Given the description of an element on the screen output the (x, y) to click on. 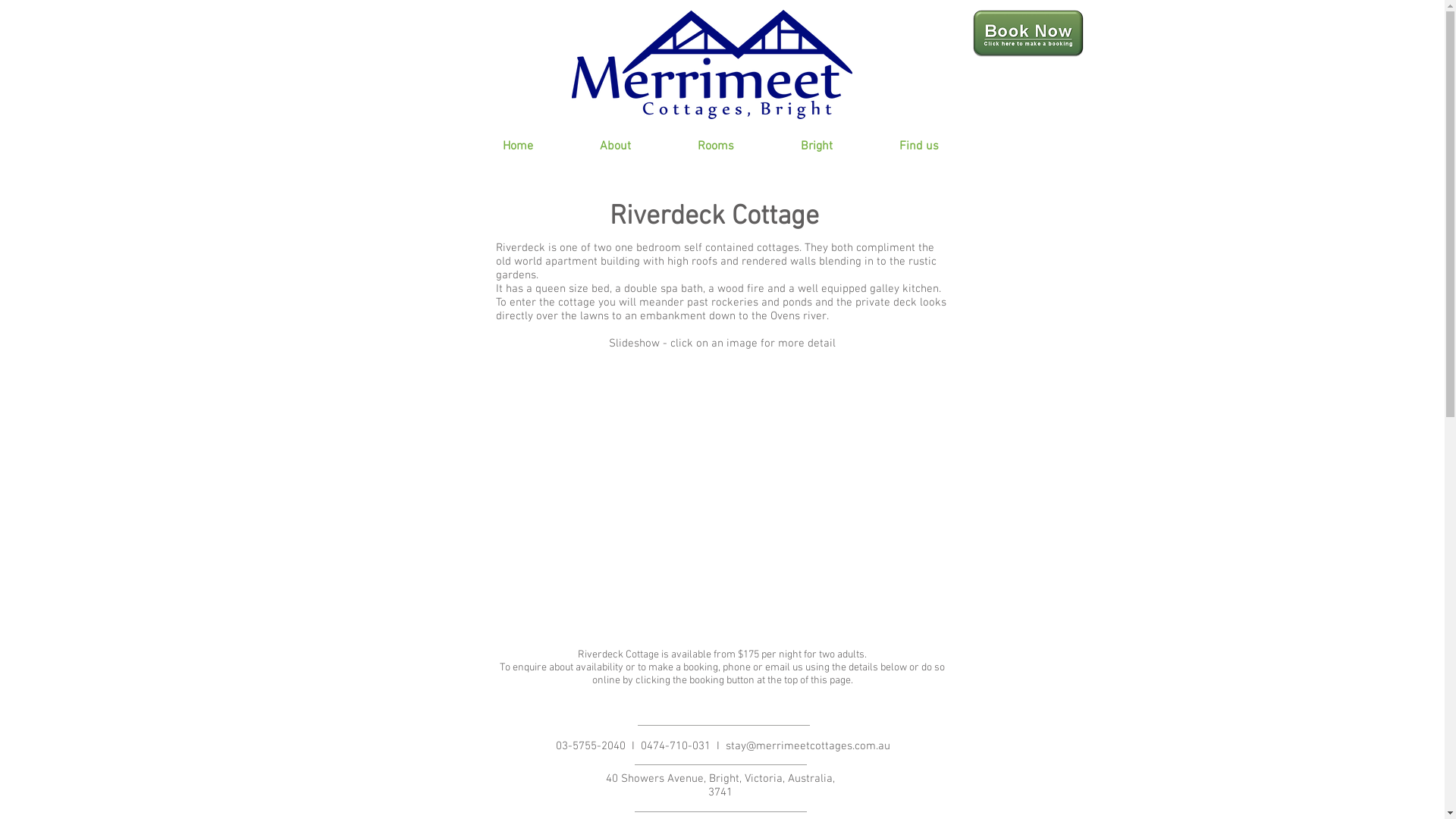
stay@merrimeetcottages.com.au Element type: text (807, 746)
Rooms Element type: text (715, 146)
Wide_Logo_blue.png Element type: hover (711, 64)
Find us Element type: text (919, 146)
Bright Element type: text (816, 146)
About Element type: text (614, 146)
Home Element type: text (516, 146)
